Given the description of an element on the screen output the (x, y) to click on. 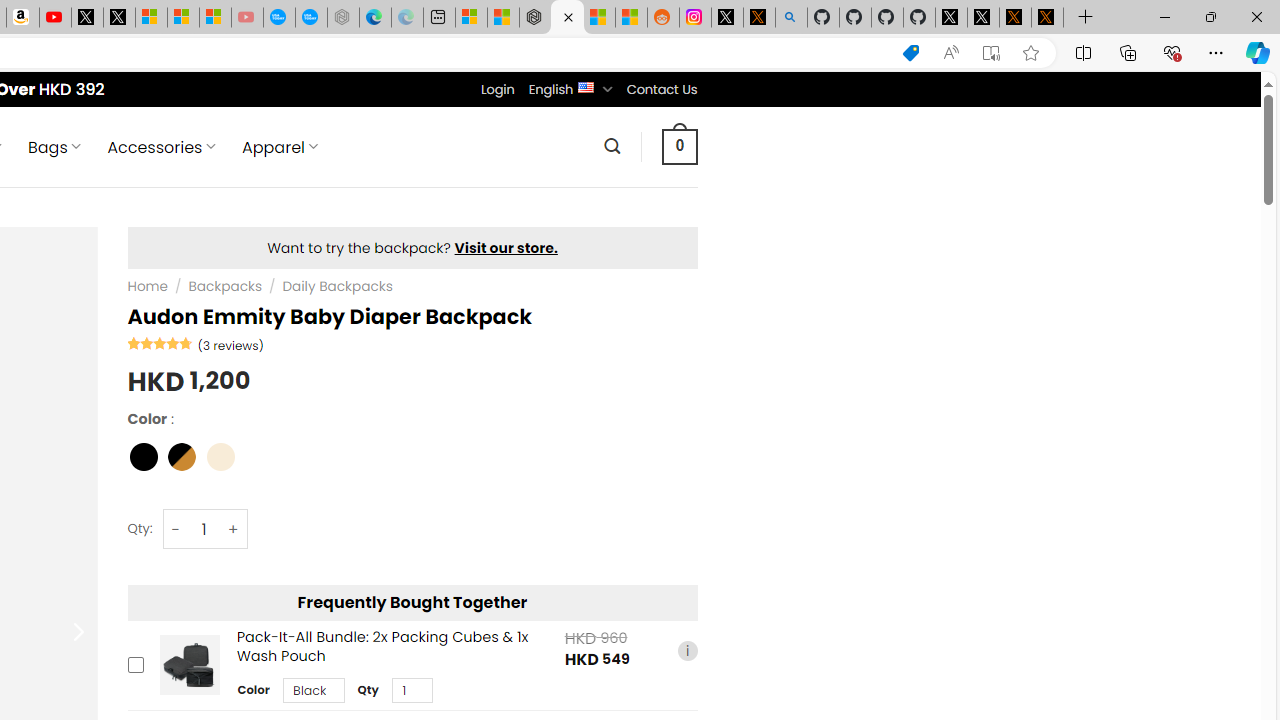
Nordace - Audon Emmity Baby Diaper Backpack (566, 17)
Audon Emmity Baby Diaper Backpack quantity (204, 529)
The most popular Google 'how to' searches (310, 17)
X Privacy Policy (1047, 17)
